Given the description of an element on the screen output the (x, y) to click on. 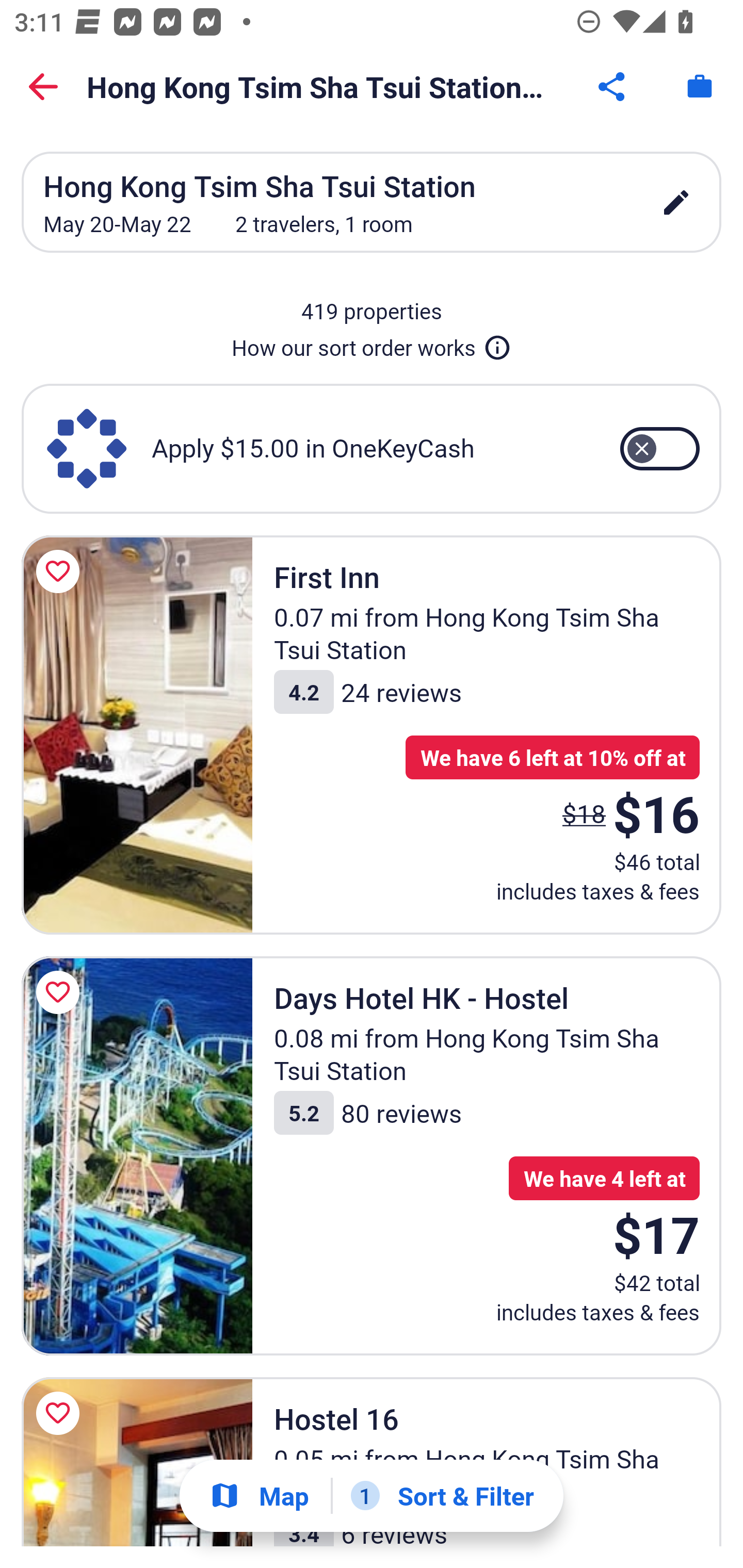
Back (43, 86)
Share Button (612, 86)
Trips. Button (699, 86)
How our sort order works (371, 344)
Save First Inn to a trip (61, 571)
First Inn (136, 734)
$18 The price was $18 (583, 812)
Save Days Hotel HK - Hostel to a trip (61, 992)
Days Hotel HK - Hostel (136, 1155)
Save Hostel 16 to a trip (61, 1413)
1 Sort & Filter 1 Filter applied. Filters Button (442, 1495)
Show map Map Show map Button (258, 1495)
